Given the description of an element on the screen output the (x, y) to click on. 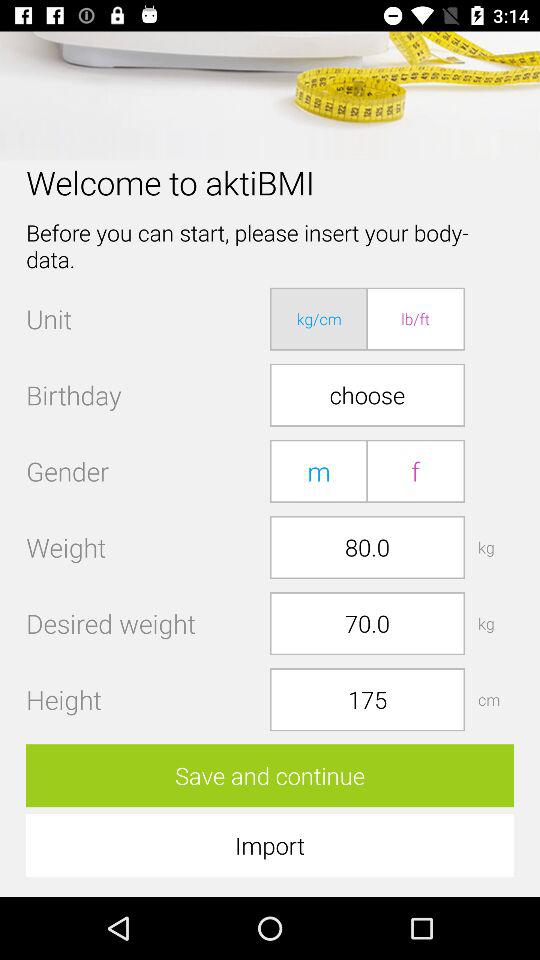
swipe until the save and continue icon (269, 775)
